Given the description of an element on the screen output the (x, y) to click on. 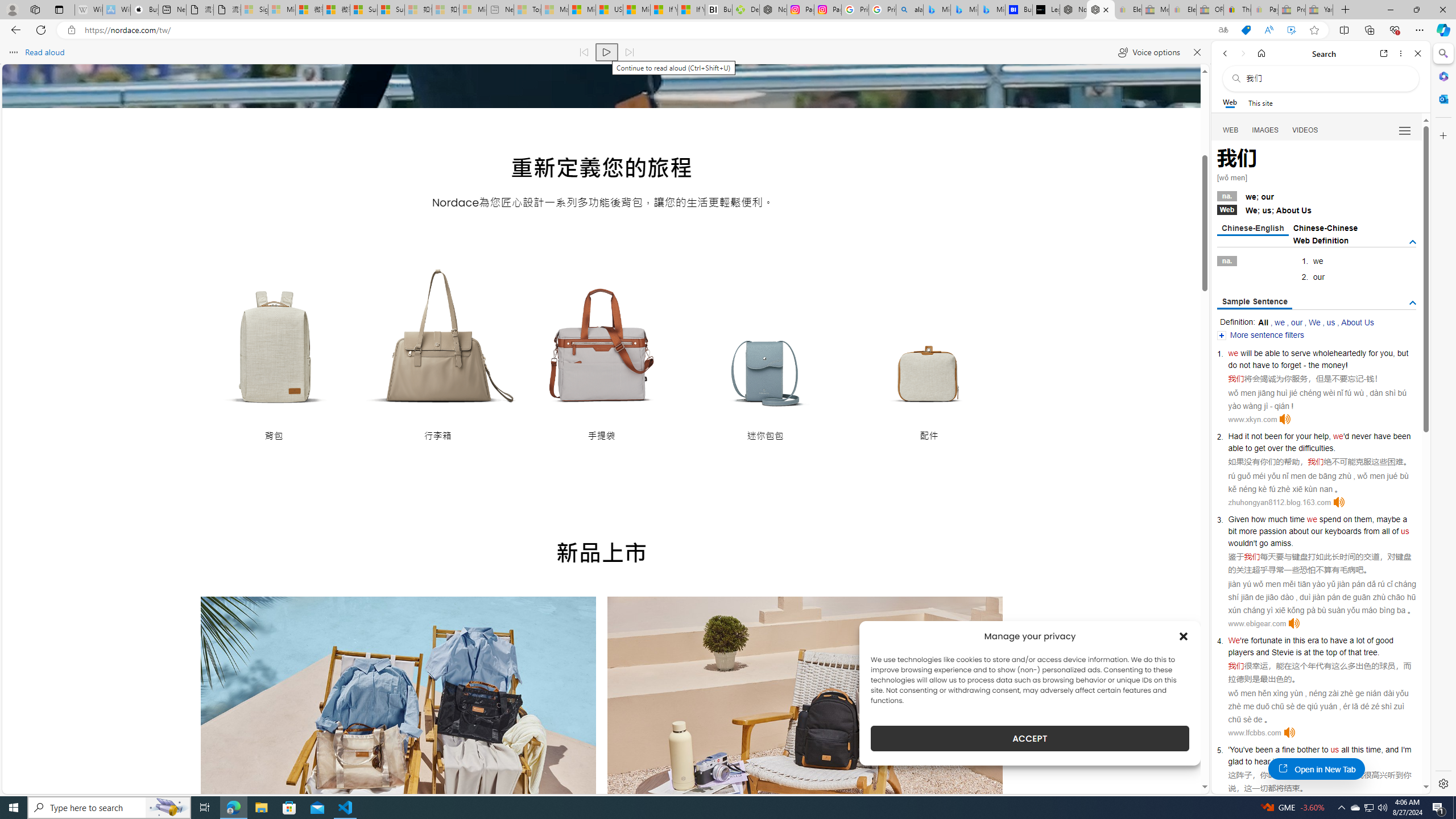
of (1395, 530)
alabama high school quarterback dies - Search (909, 9)
over (1275, 447)
us (1334, 749)
difficulties (1315, 447)
time (1297, 519)
